Given the description of an element on the screen output the (x, y) to click on. 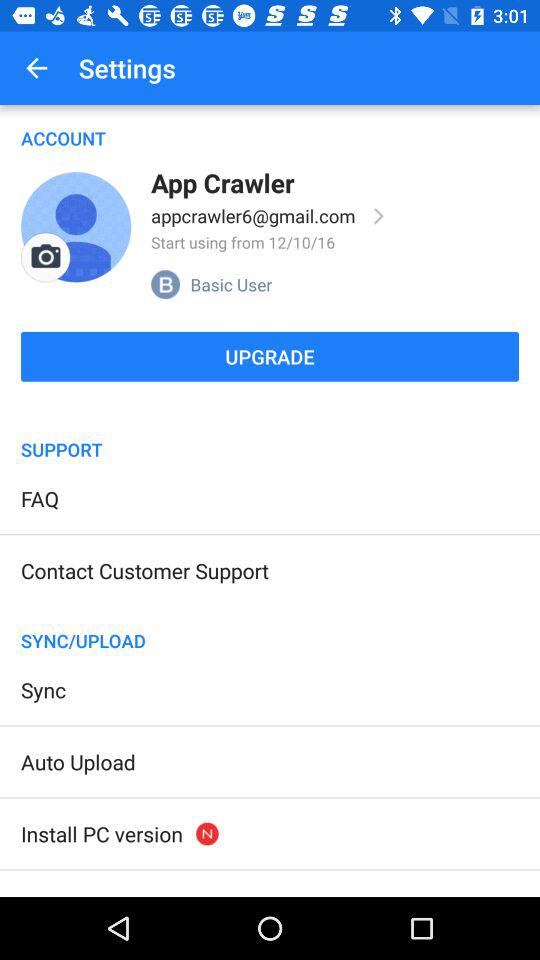
tap item above the install pc version (78, 761)
